Given the description of an element on the screen output the (x, y) to click on. 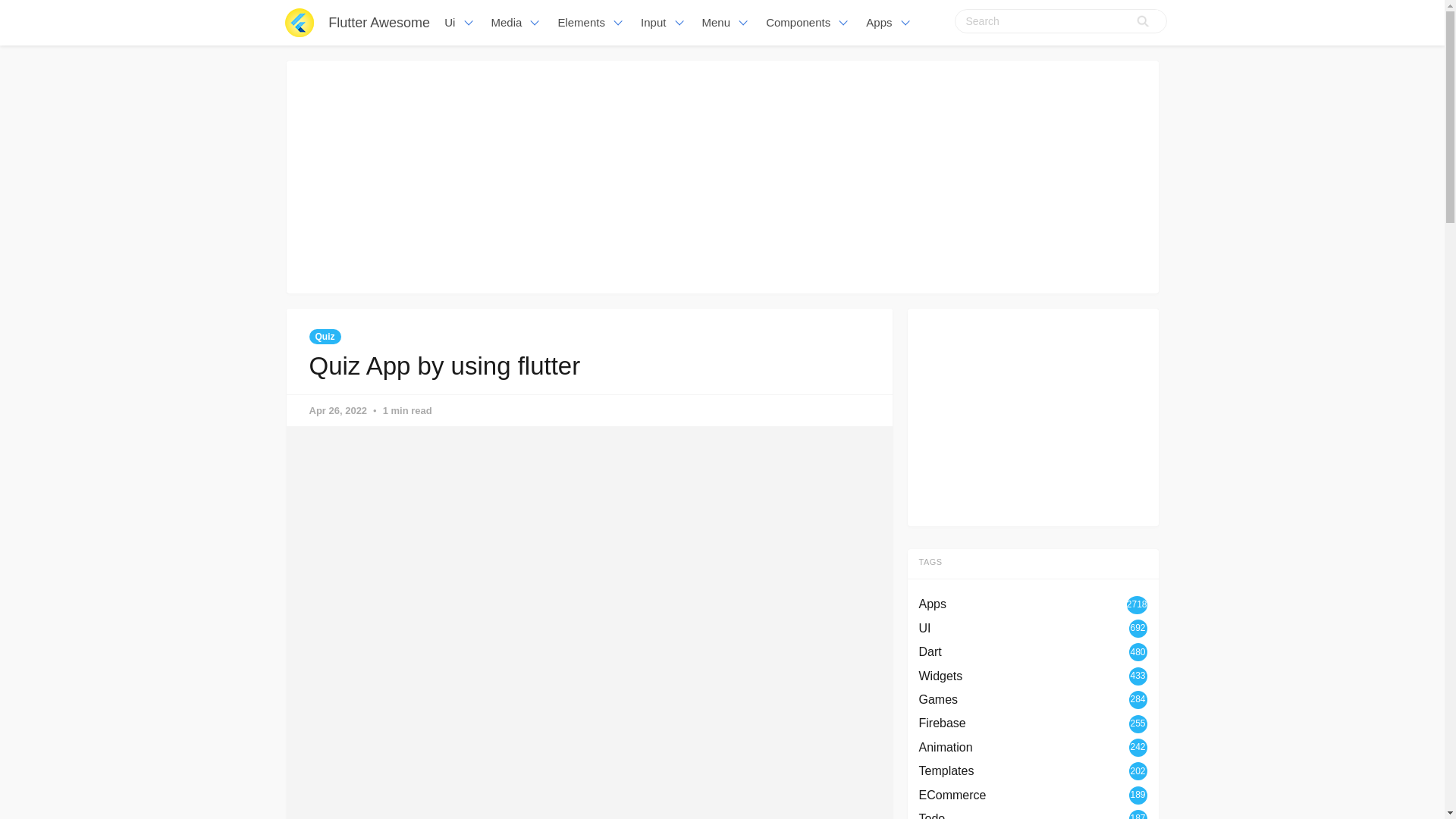
Media (516, 22)
Elements (591, 22)
Flutter Awesome (379, 22)
Advertisement (1032, 414)
Ui (460, 22)
